Given the description of an element on the screen output the (x, y) to click on. 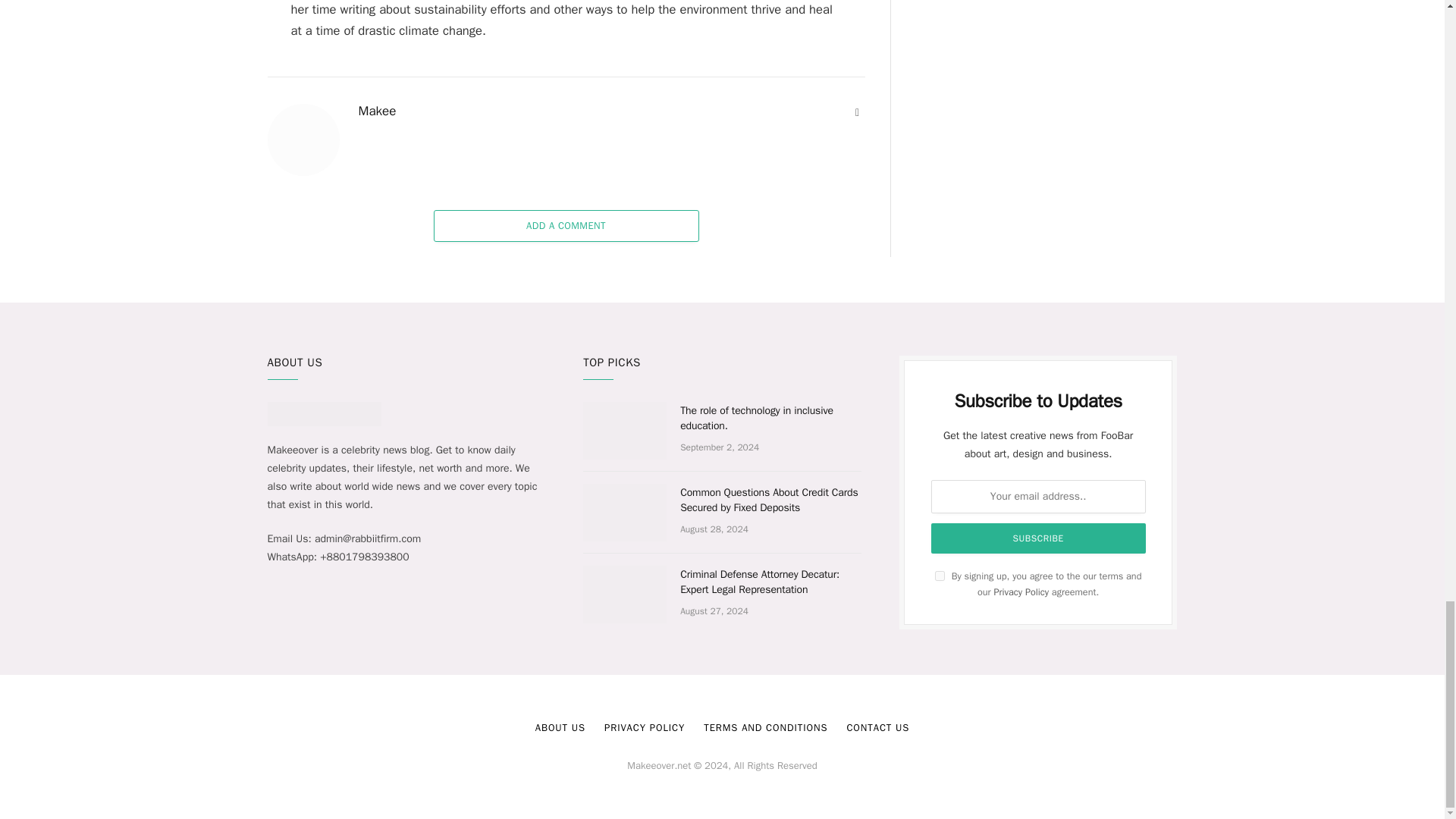
Website (856, 112)
Website (856, 112)
on (939, 575)
Posts by Makee (377, 111)
Subscribe (1038, 538)
ADD A COMMENT (565, 225)
Makee (377, 111)
